Given the description of an element on the screen output the (x, y) to click on. 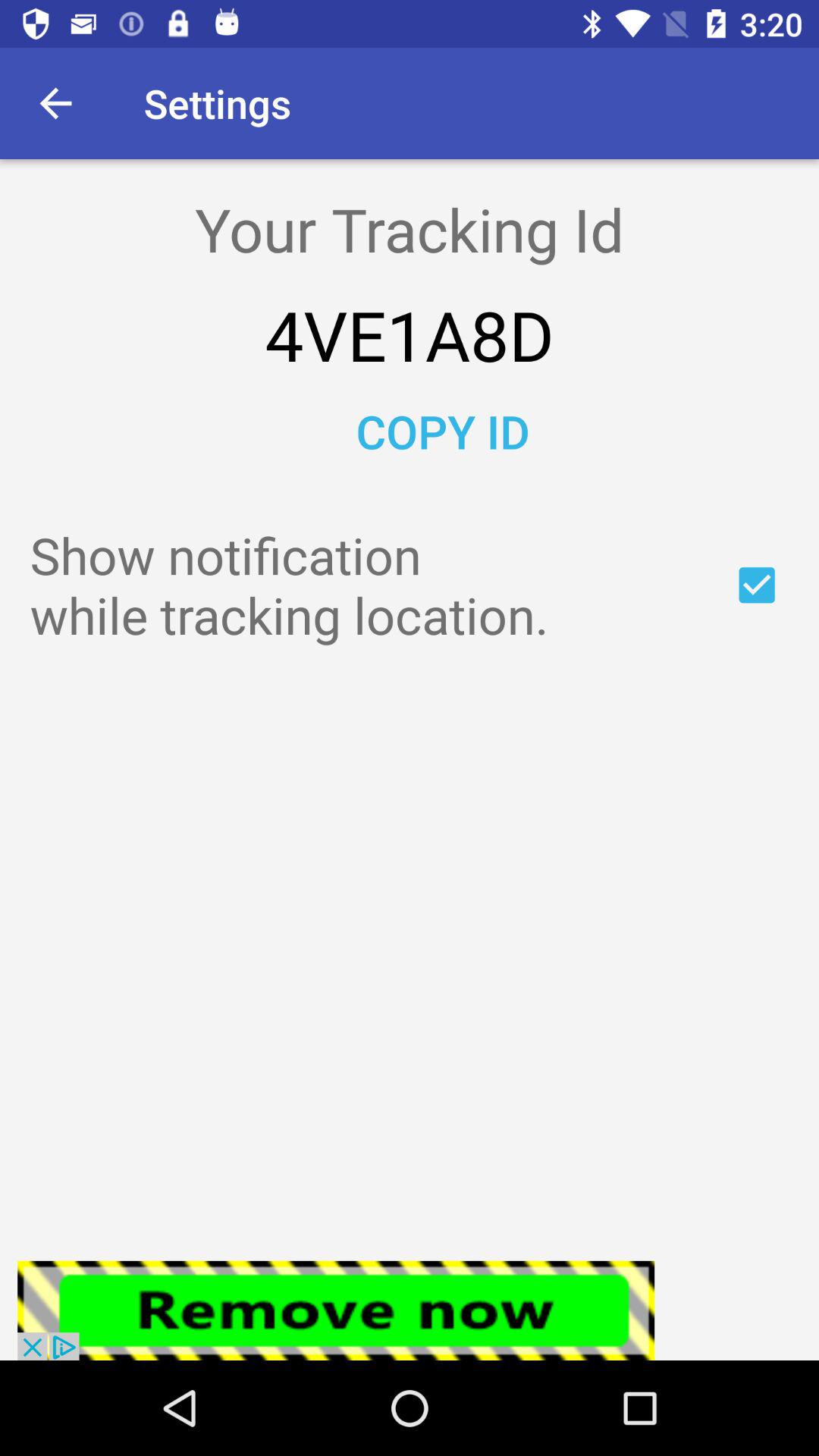
go to the advertisement (335, 1310)
